Given the description of an element on the screen output the (x, y) to click on. 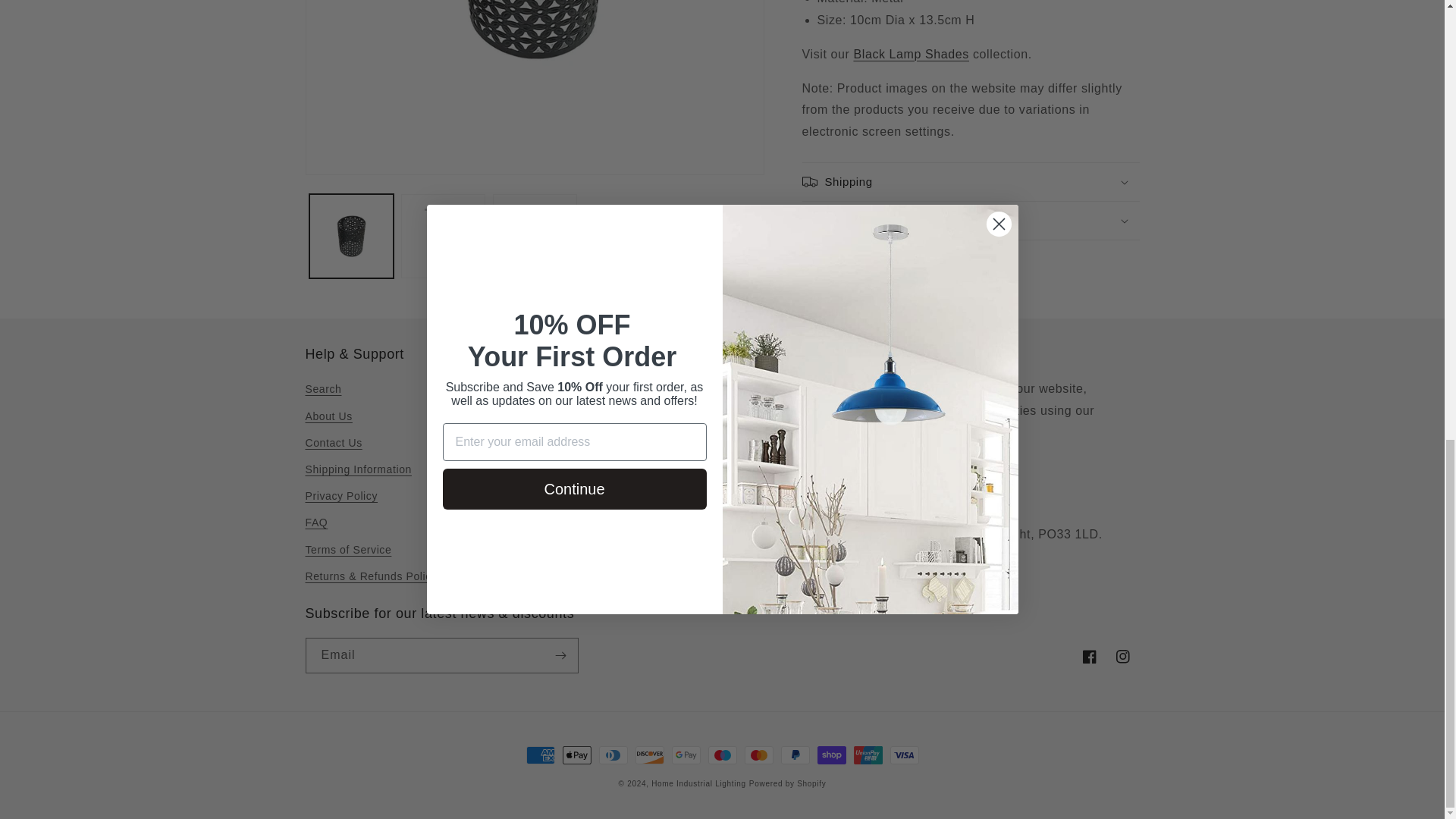
Black Lamp Shades (911, 53)
